Given the description of an element on the screen output the (x, y) to click on. 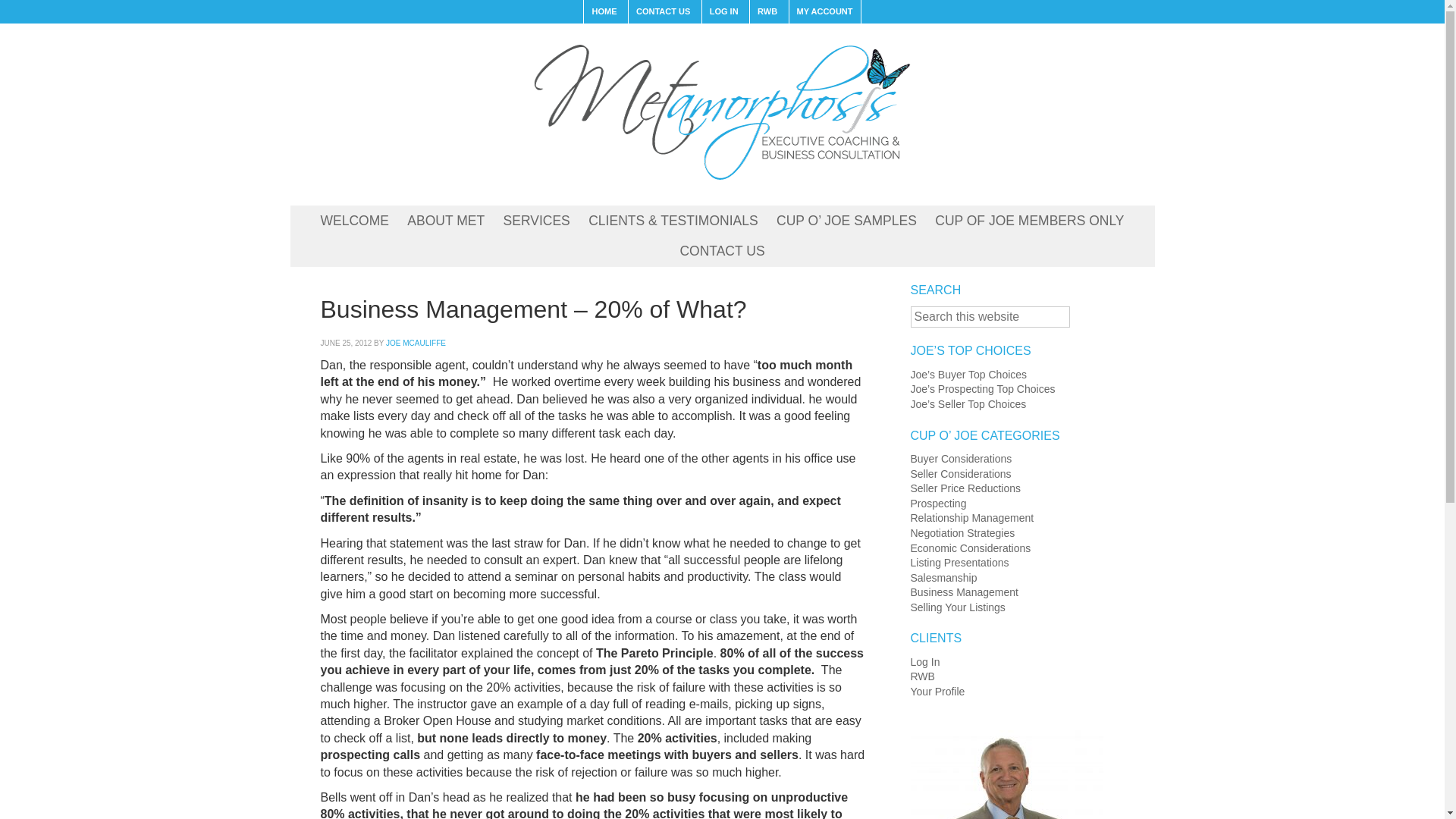
SERVICES (537, 220)
ABOUT MET (445, 220)
RWB (766, 11)
CONTACT US (662, 11)
LOG IN (723, 11)
HOME (603, 11)
WELCOME (354, 220)
MY ACCOUNT (824, 11)
CUP OF JOE MEMBERS ONLY (1029, 220)
METAMORPHOSIS CONSULTING, INC. (721, 111)
CONTACT US (721, 250)
JOE MCAULIFFE (415, 343)
